Given the description of an element on the screen output the (x, y) to click on. 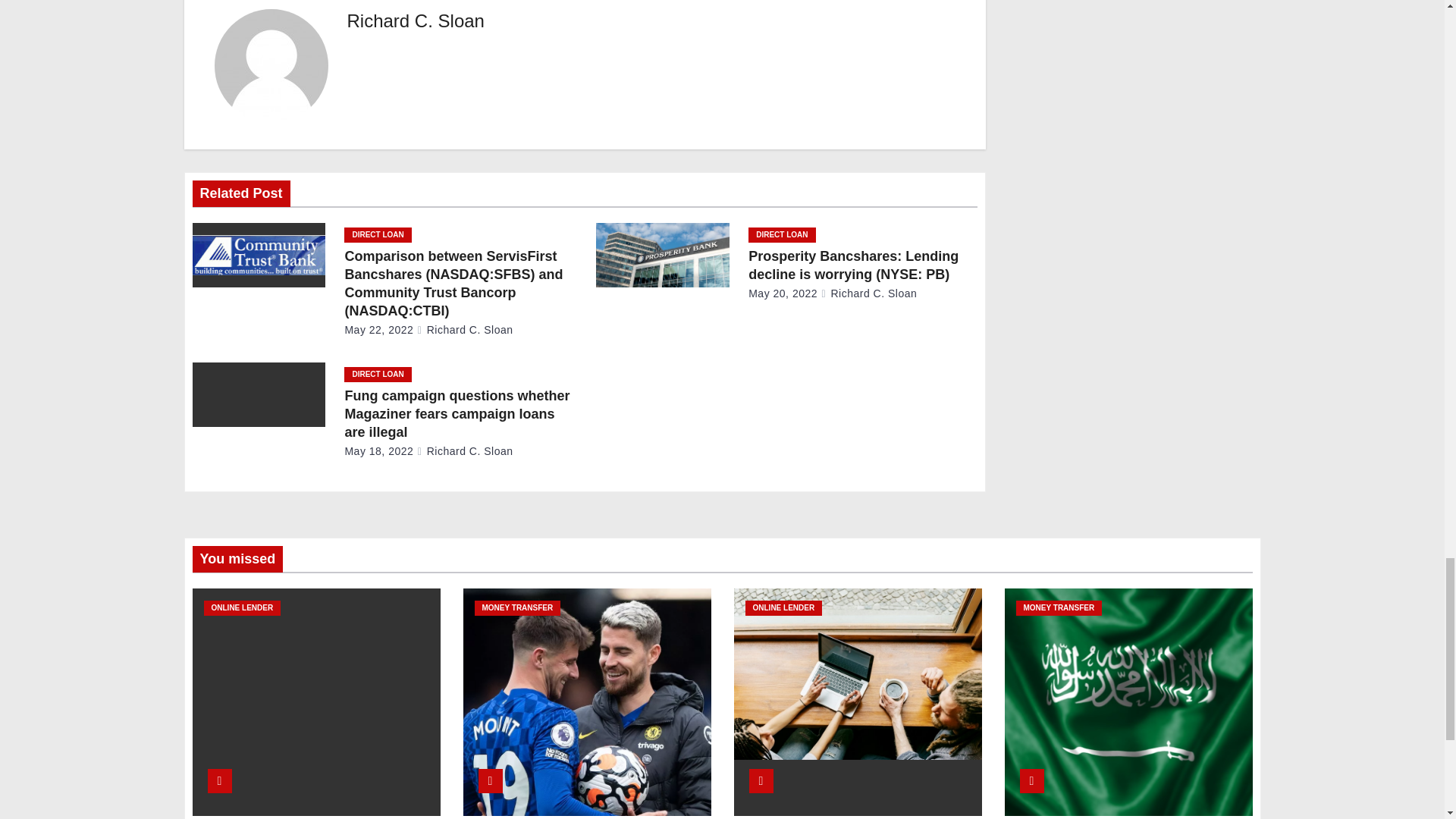
DIRECT LOAN (376, 234)
Richard C. Sloan (415, 20)
